Given the description of an element on the screen output the (x, y) to click on. 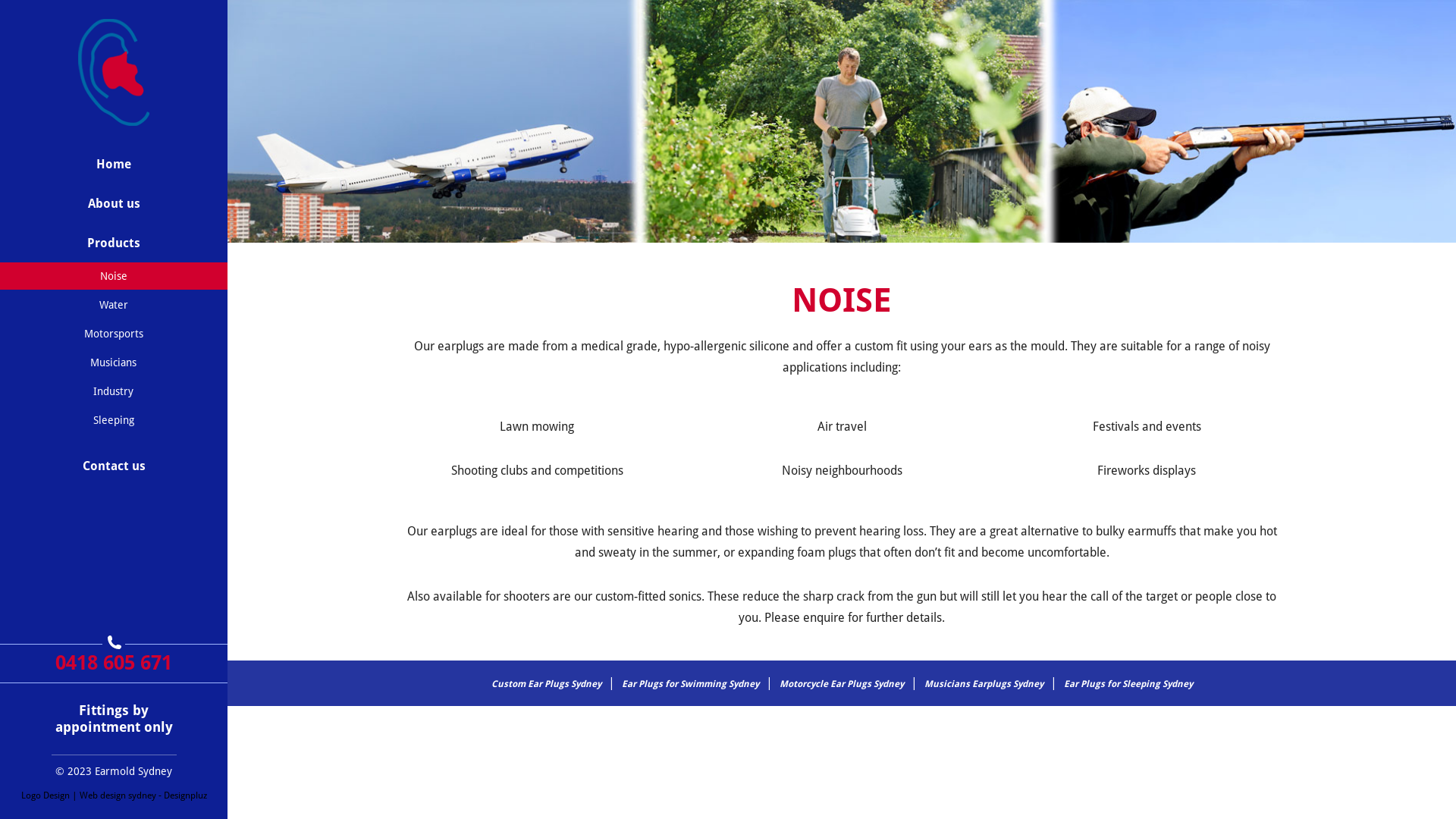
Motorcycle Ear Plugs Sydney Element type: text (840, 682)
Musicians Earplugs Sydney Element type: text (983, 682)
Logo Design Element type: text (45, 795)
Products Element type: text (113, 243)
Designpluz Element type: text (185, 795)
Web design sydney Element type: text (116, 795)
Ear Plugs for Sleeping Sydney Element type: text (1128, 682)
Custom Ear Plugs Sydney Element type: text (545, 682)
Contact us Element type: text (113, 466)
Ear Plugs for Swimming Sydney Element type: text (689, 682)
0418 605 671 Element type: text (113, 662)
About us Element type: text (113, 203)
Home Element type: text (113, 164)
0418605671 Element type: hover (113, 641)
